Given the description of an element on the screen output the (x, y) to click on. 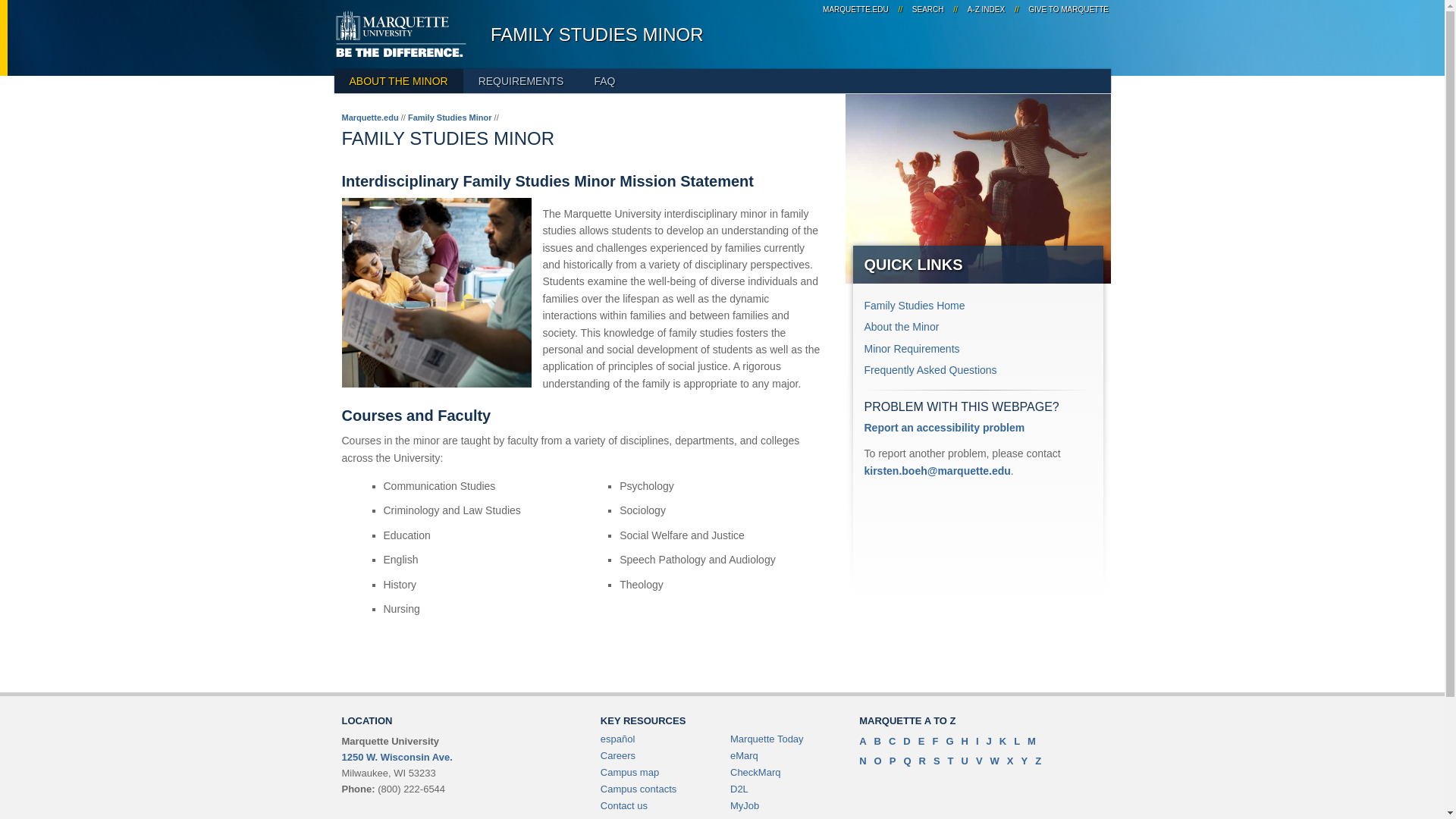
Contact us (623, 805)
Minor Requirements (911, 348)
Campus map (629, 772)
Frequently Asked Questions (930, 369)
MyJob (744, 805)
About the Minor (901, 326)
SEARCH (927, 8)
Marquette Today (766, 738)
FAQ (604, 80)
Campus contacts (638, 788)
1250 W. Wisconsin Ave. (395, 756)
CheckMarq (755, 772)
REQUIREMENTS (521, 80)
Family Studies Minor (449, 117)
University safety (766, 817)
